Given the description of an element on the screen output the (x, y) to click on. 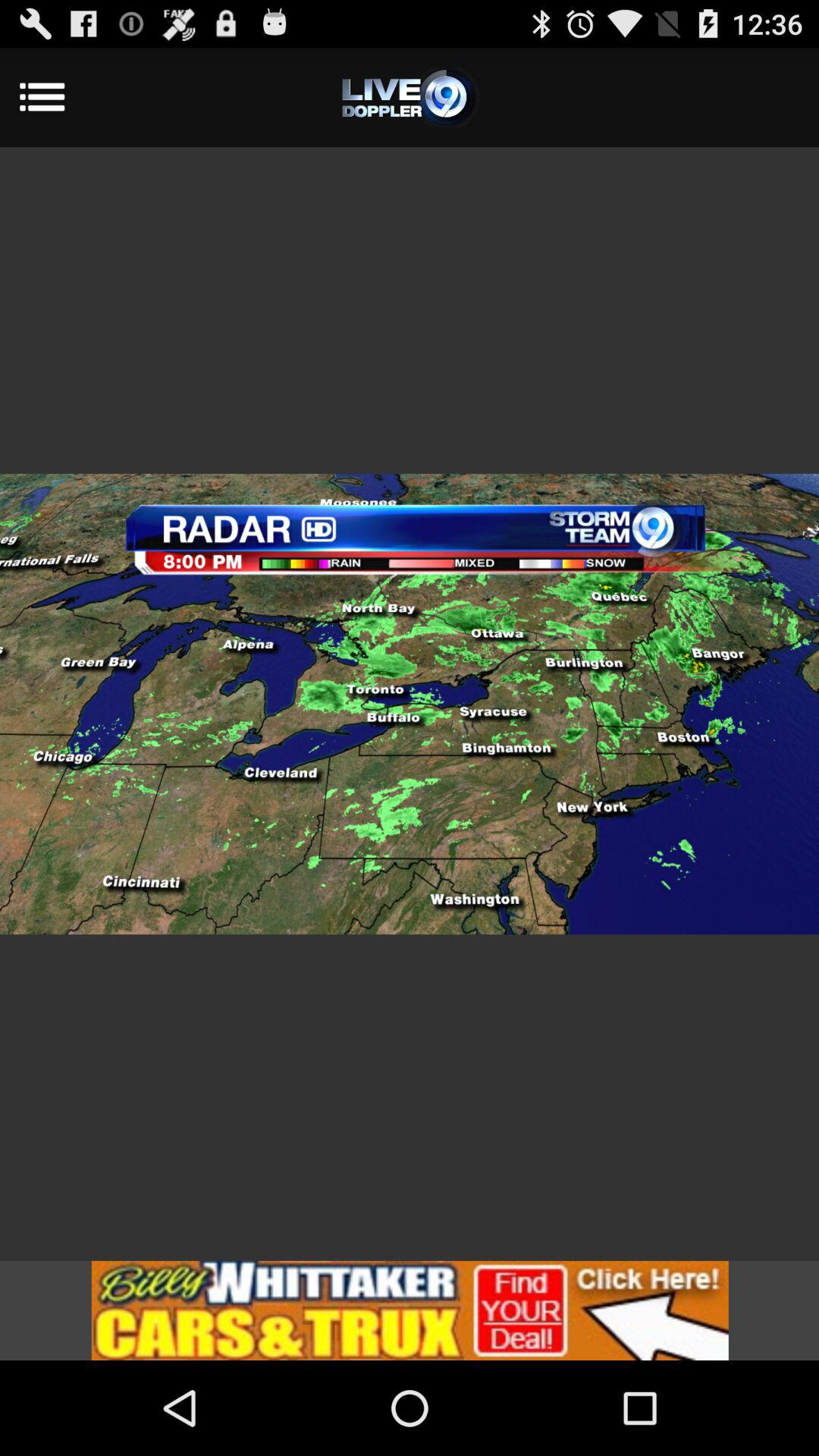
go to the settings of live doppler 9 (409, 97)
